Given the description of an element on the screen output the (x, y) to click on. 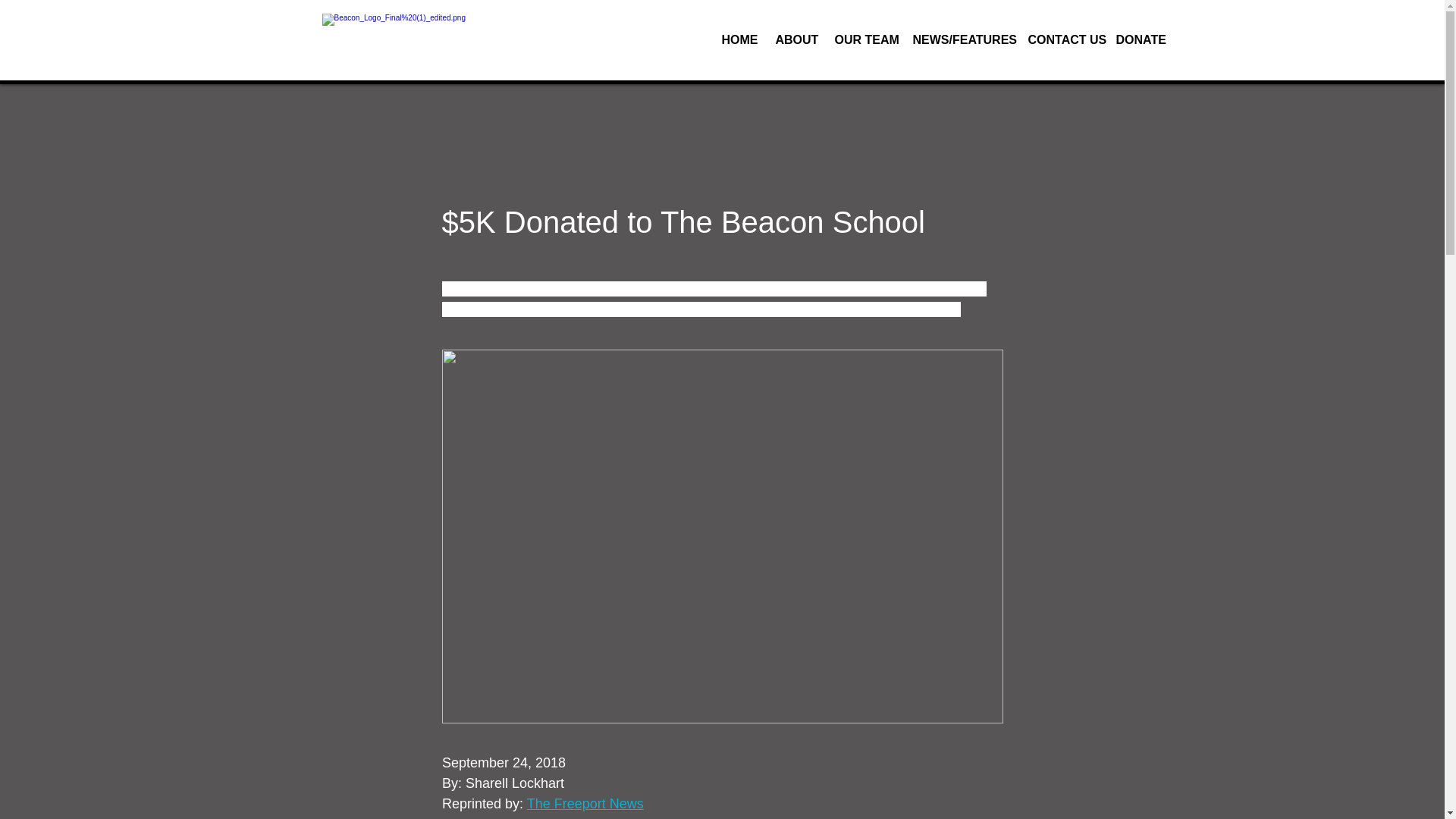
HOME (736, 40)
CONTACT US (1059, 40)
OUR TEAM (862, 40)
DONATE (1136, 40)
ABOUT (794, 40)
The Freeport News (584, 803)
